Given the description of an element on the screen output the (x, y) to click on. 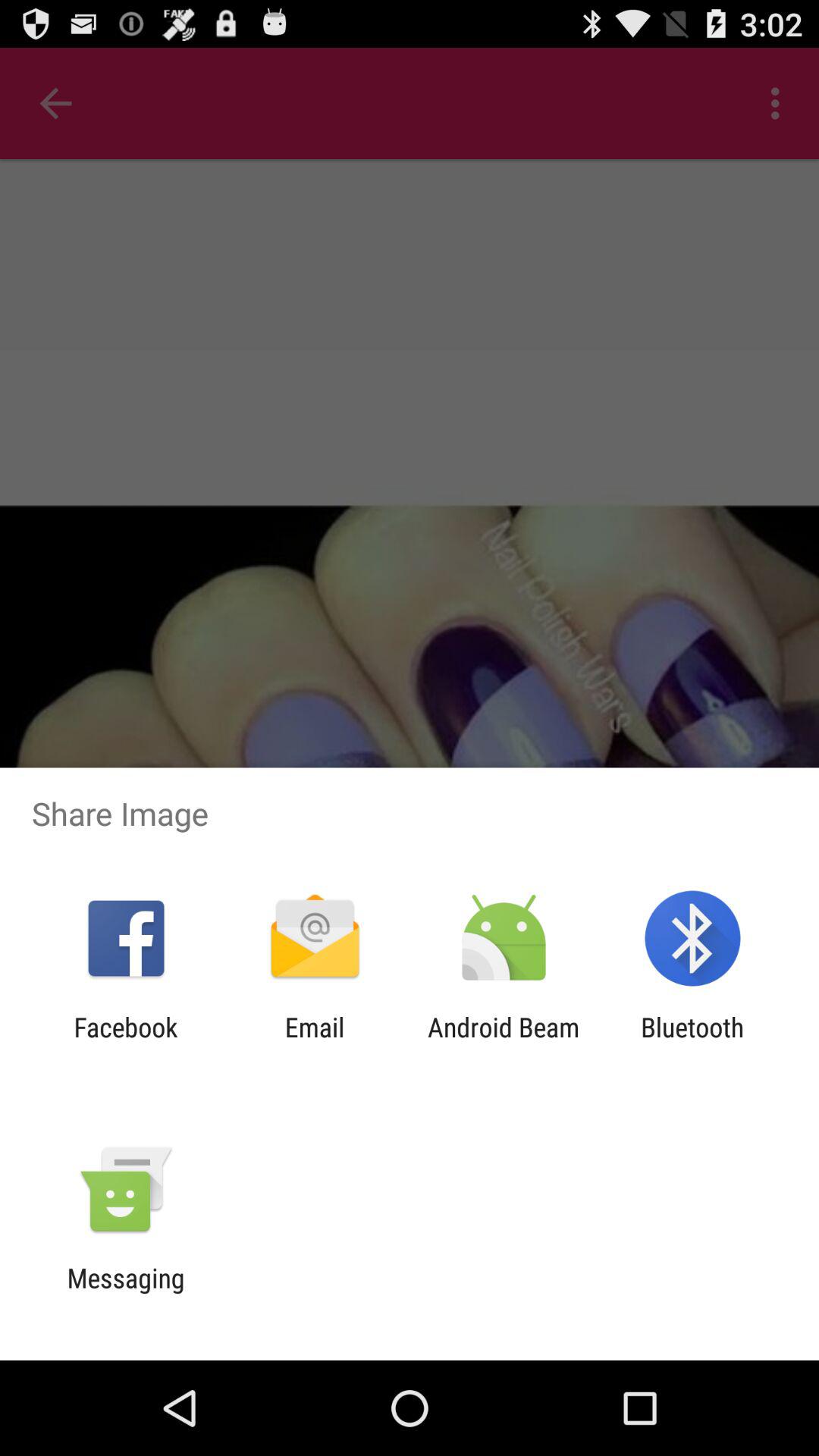
launch item to the left of the android beam (314, 1042)
